Given the description of an element on the screen output the (x, y) to click on. 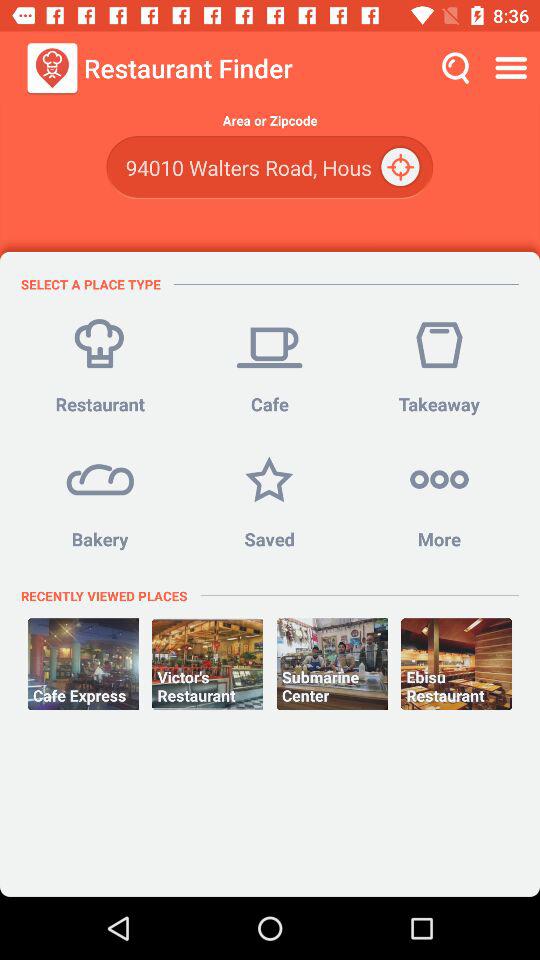
select the item above select a place item (269, 167)
